Given the description of an element on the screen output the (x, y) to click on. 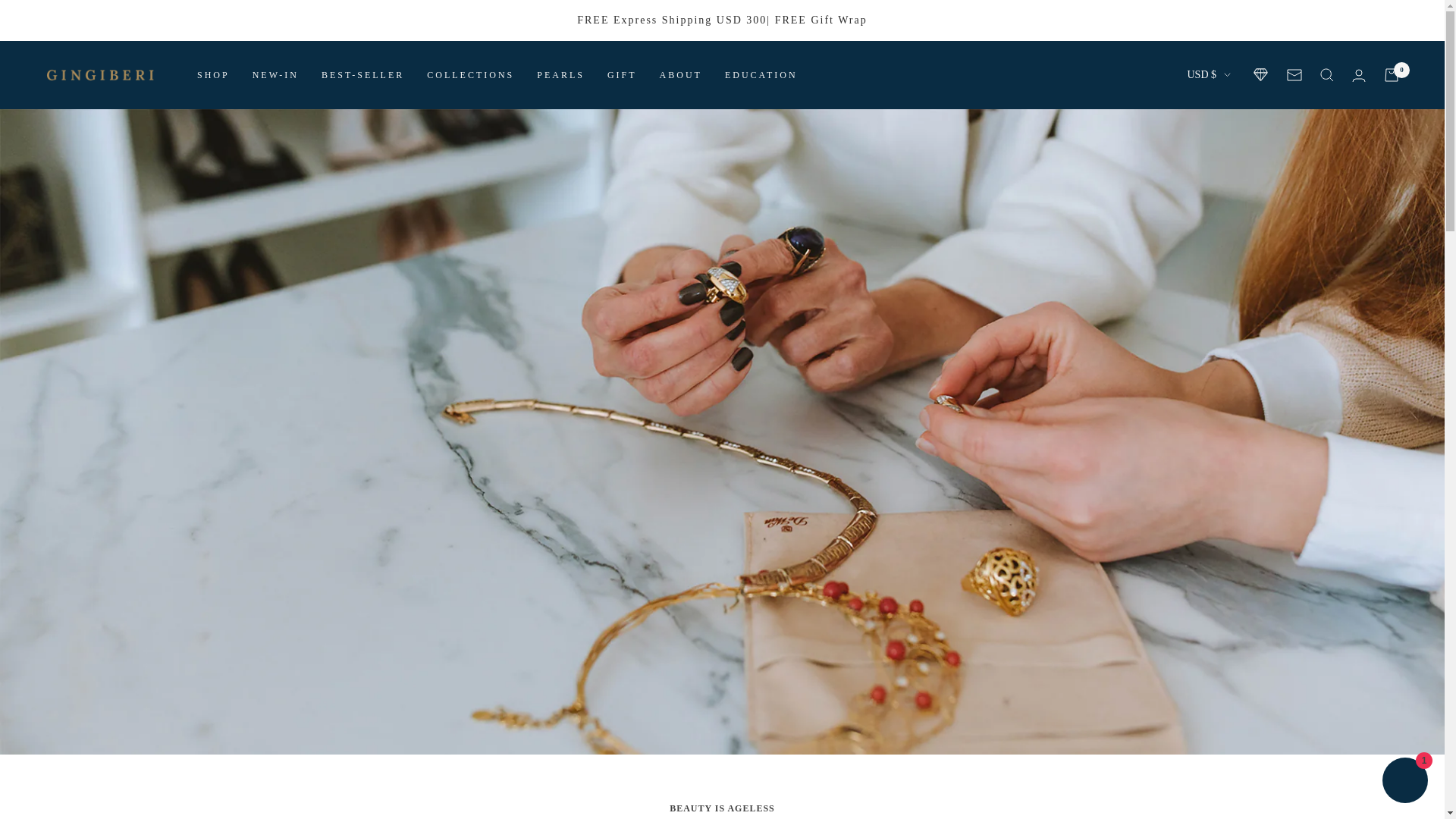
CAD (1130, 227)
ISK (1130, 477)
COLLECTIONS (469, 75)
CZK (1130, 277)
Gingiberi (100, 74)
BEST-SELLER (362, 75)
BND (1130, 202)
ALL (1130, 152)
NEW-IN (274, 75)
IDR (1130, 427)
EDUCATION (761, 75)
QAR (1130, 677)
AUD (1130, 177)
JPY (1130, 502)
NZD (1130, 602)
